Given the description of an element on the screen output the (x, y) to click on. 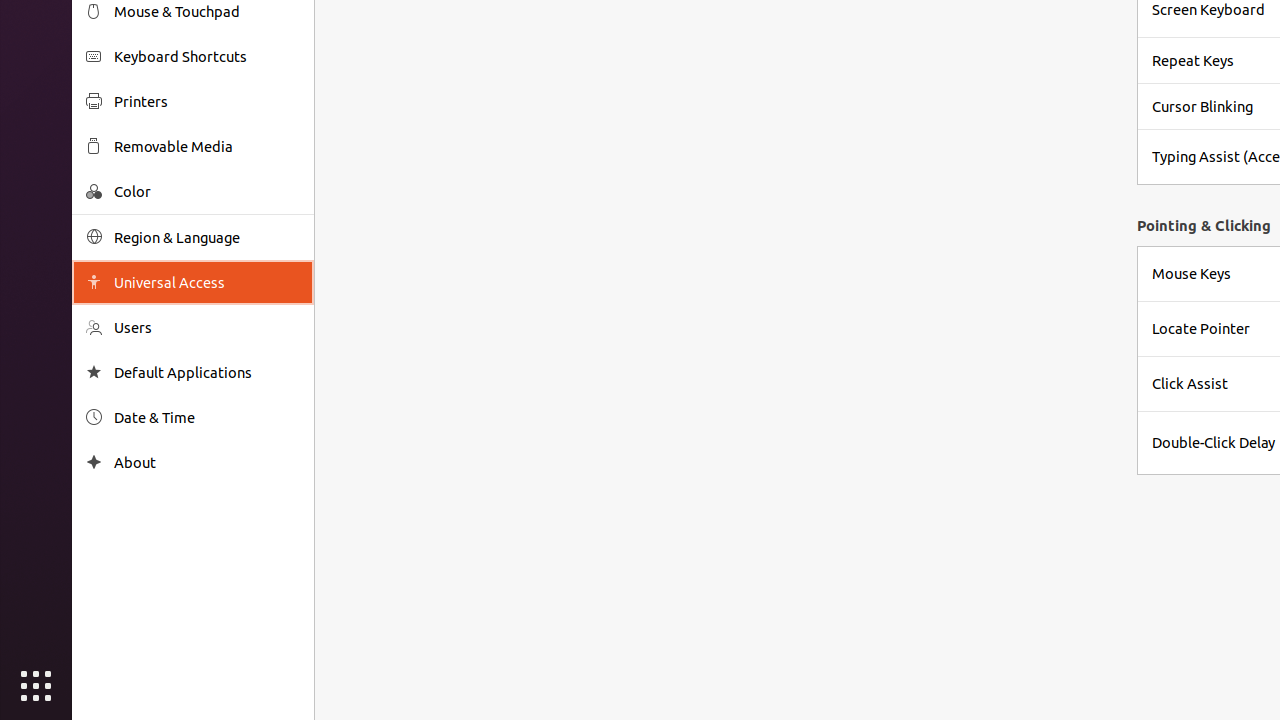
Removable Media Element type: label (207, 146)
Default Applications Element type: label (207, 372)
Mouse & Touchpad Element type: label (207, 11)
Keyboard Shortcuts Element type: label (207, 56)
Users Element type: label (207, 327)
